Given the description of an element on the screen output the (x, y) to click on. 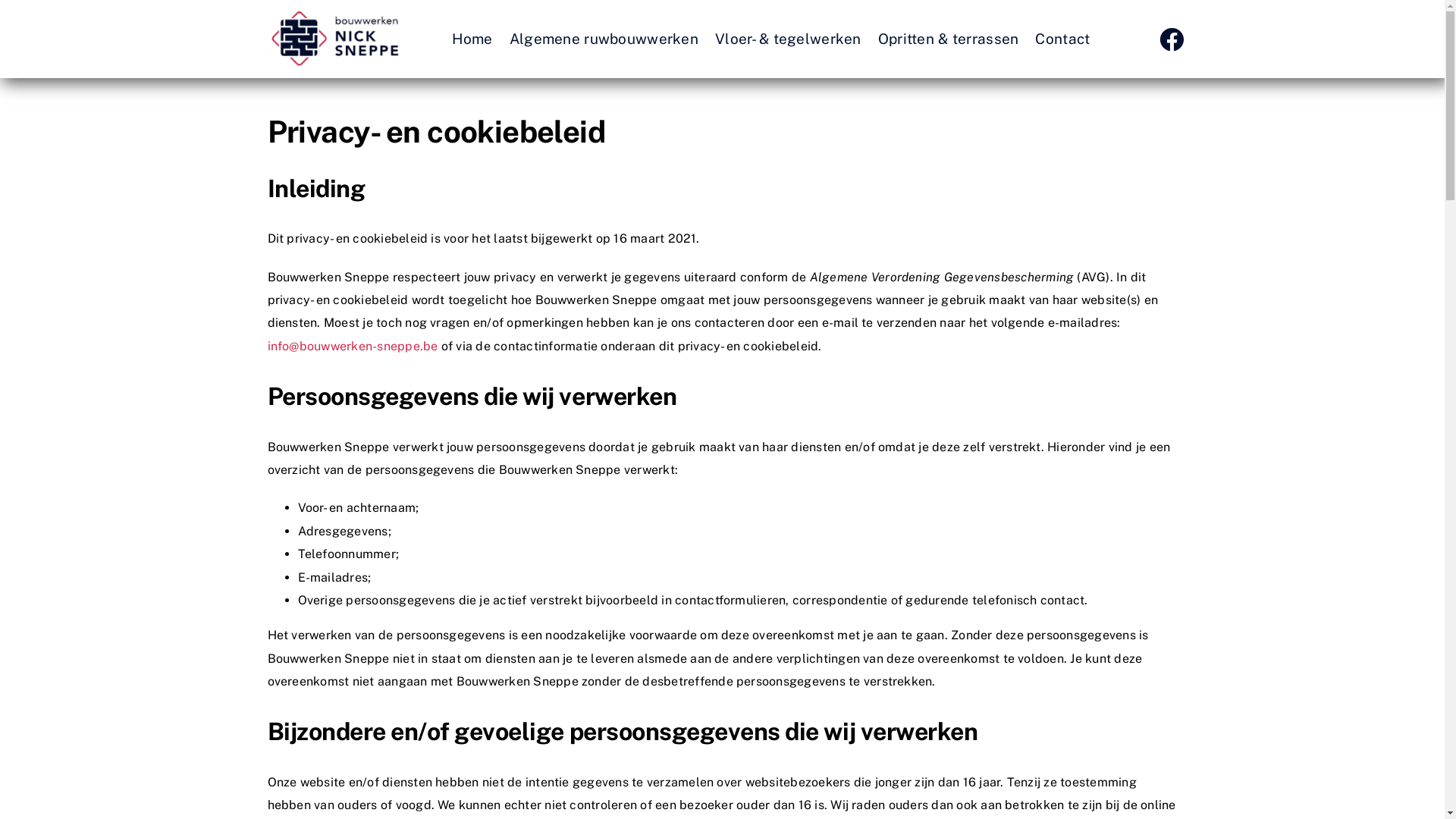
Vloer- & tegelwerken Element type: text (788, 39)
Contact Element type: text (1062, 39)
Opritten & terrassen Element type: text (948, 39)
Home Element type: text (471, 39)
info@bouwwerken-sneppe.be Element type: text (351, 345)
Algemene ruwbouwwerken Element type: text (603, 39)
